Given the description of an element on the screen output the (x, y) to click on. 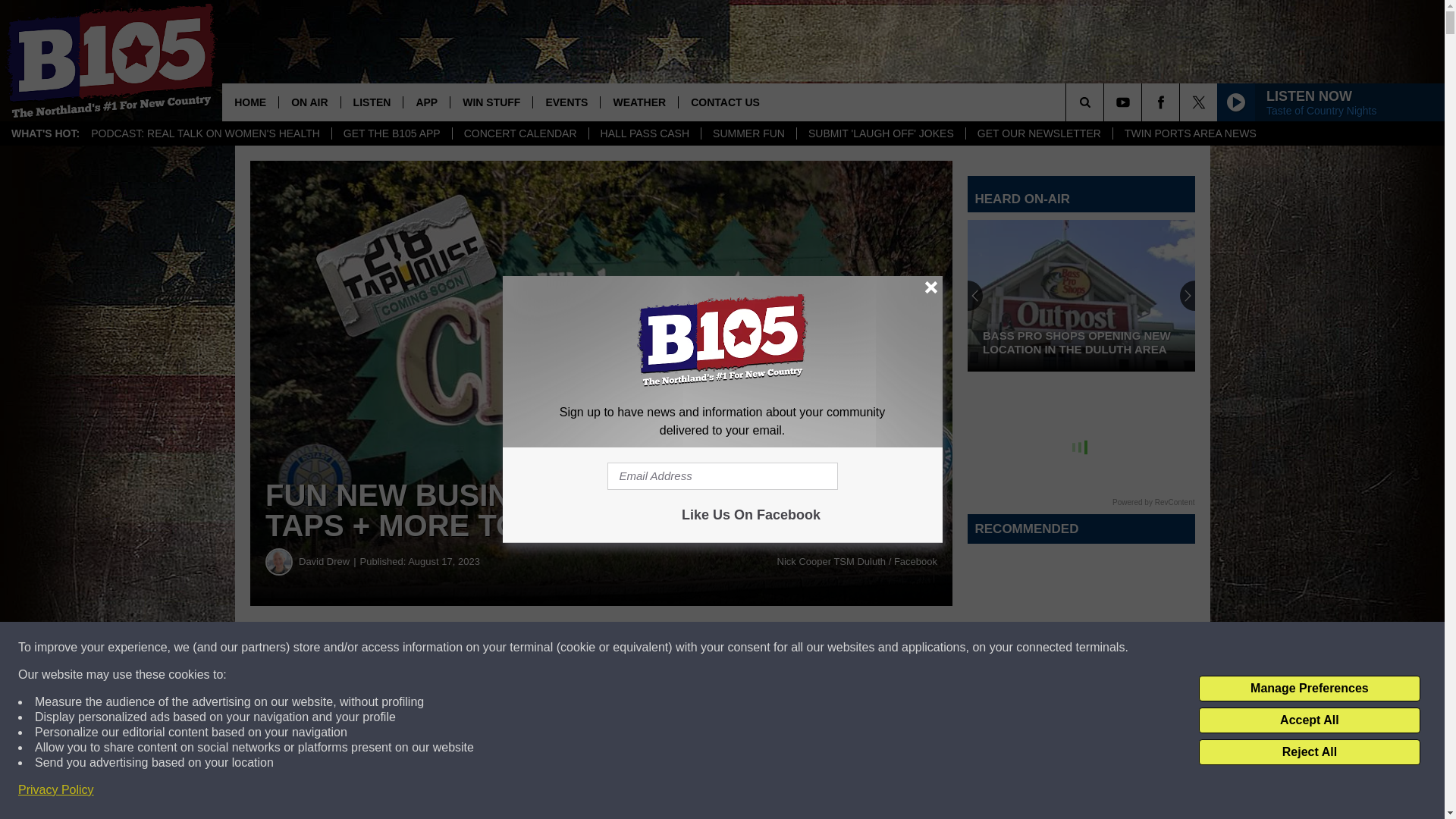
LISTEN (371, 102)
Privacy Policy (55, 789)
PODCAST: REAL TALK ON WOMEN'S HEALTH (205, 133)
WIN STUFF (490, 102)
TWIN PORTS AREA NEWS (1190, 133)
GET OUR NEWSLETTER (1038, 133)
CONCERT CALENDAR (519, 133)
SEARCH (1106, 102)
Reject All (1309, 751)
Manage Preferences (1309, 688)
SEARCH (1106, 102)
SUMMER FUN (748, 133)
SUBMIT 'LAUGH OFF' JOKES (880, 133)
Share on Facebook (460, 647)
HOME (250, 102)
